Given the description of an element on the screen output the (x, y) to click on. 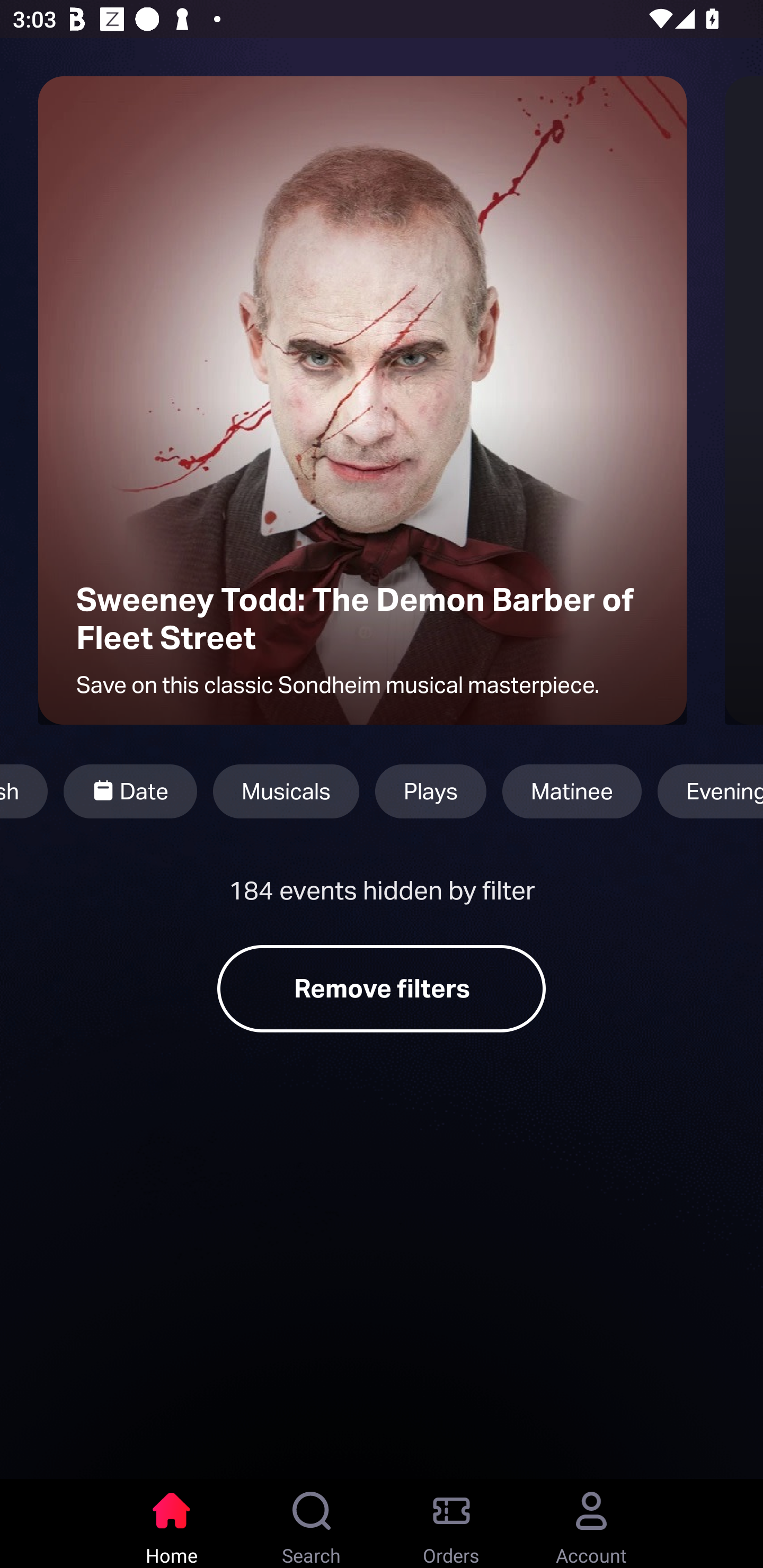
Date (129, 791)
Musicals (285, 791)
Plays (430, 791)
Matinee (571, 791)
Remove filters (381, 988)
Search (311, 1523)
Orders (451, 1523)
Account (591, 1523)
